Given the description of an element on the screen output the (x, y) to click on. 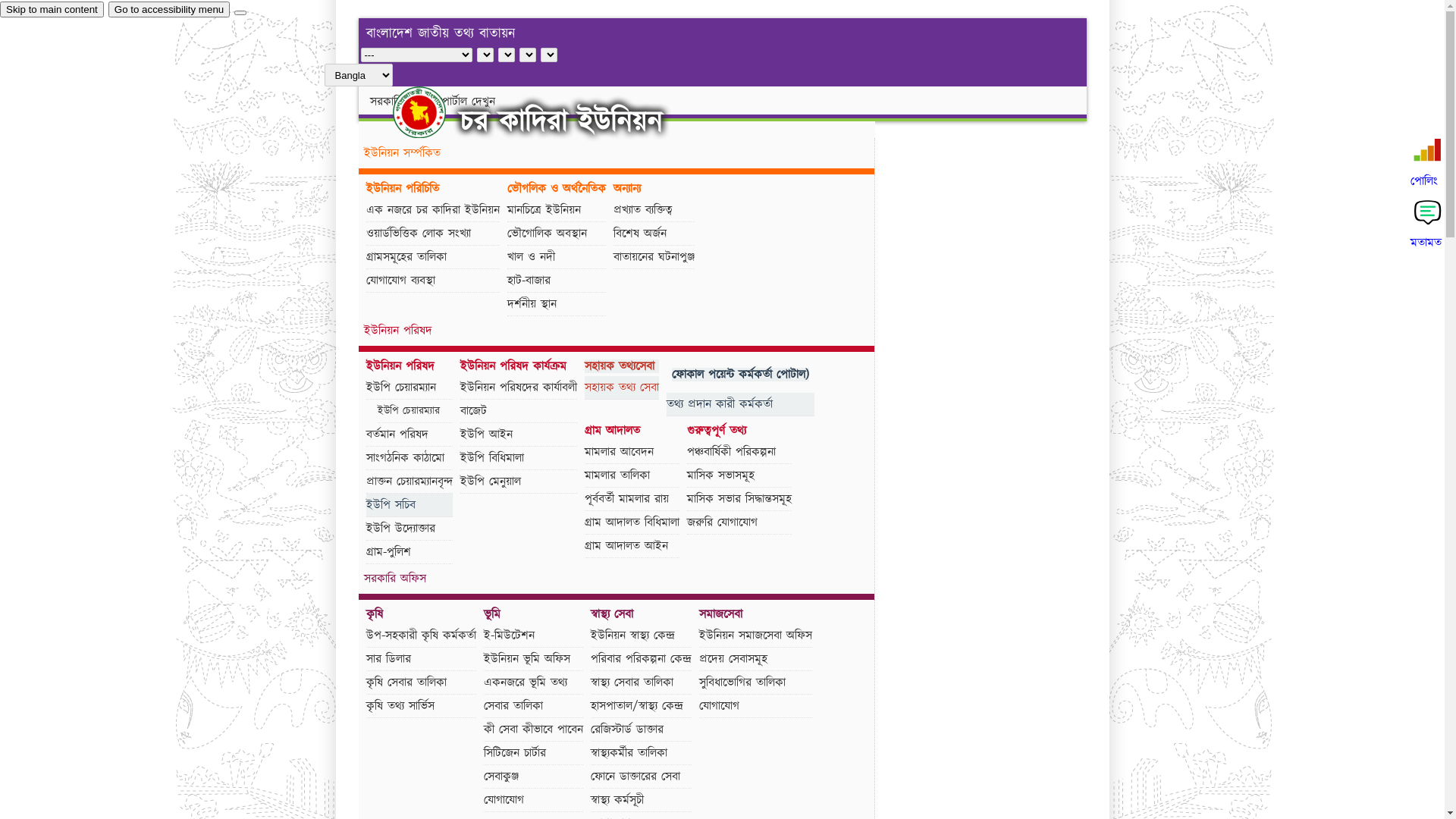
close Element type: hover (240, 12)

                
             Element type: hover (431, 112)
Go to accessibility menu Element type: text (168, 9)
Skip to main content Element type: text (51, 9)
